Given the description of an element on the screen output the (x, y) to click on. 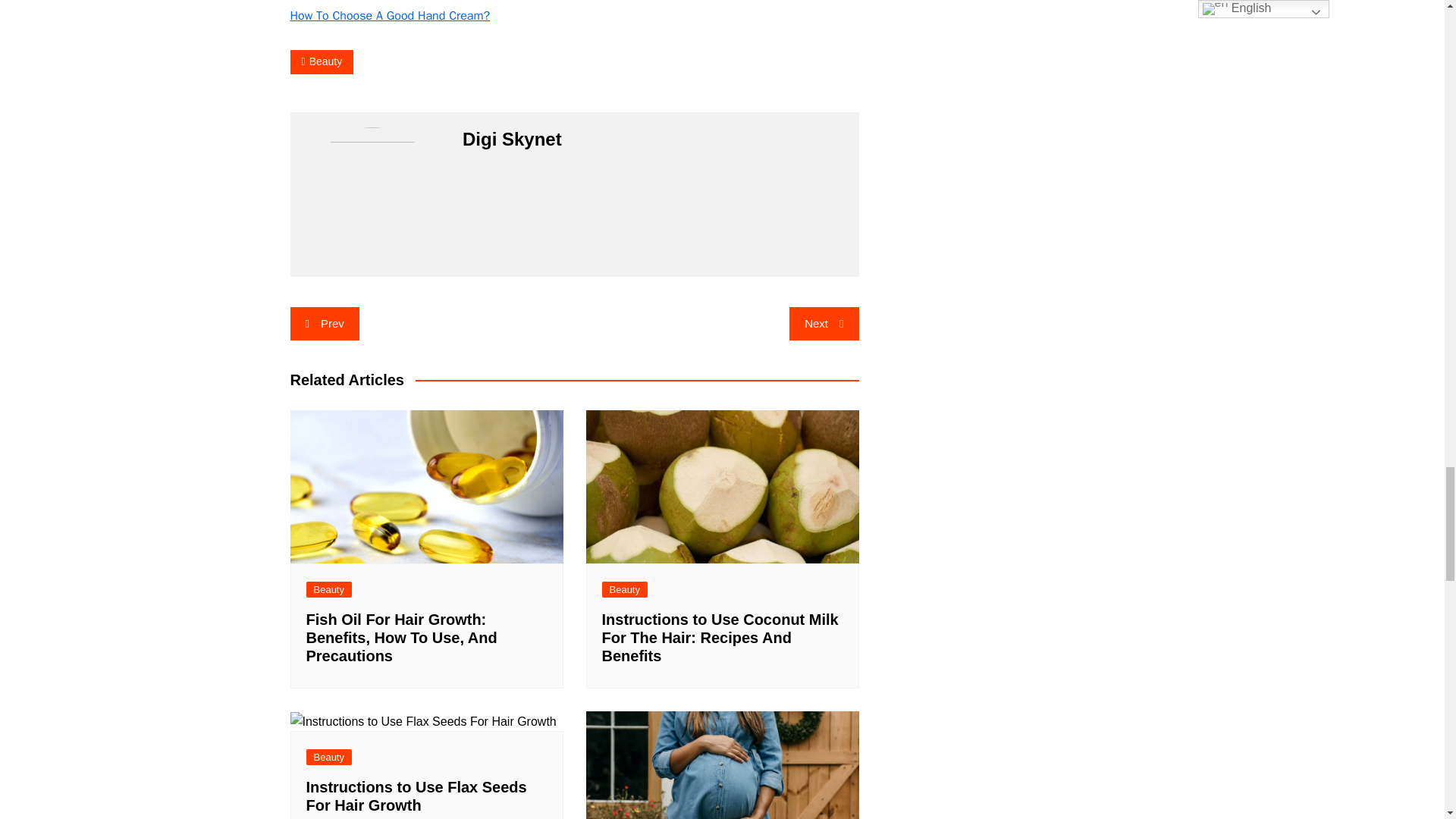
Instructions to Use Flax Seeds For Hair Growth (422, 721)
Does Hair Grow Faster During Pregnancy? (722, 765)
How To Choose A Good Hand Cream? (389, 15)
Beauty (321, 61)
